Given the description of an element on the screen output the (x, y) to click on. 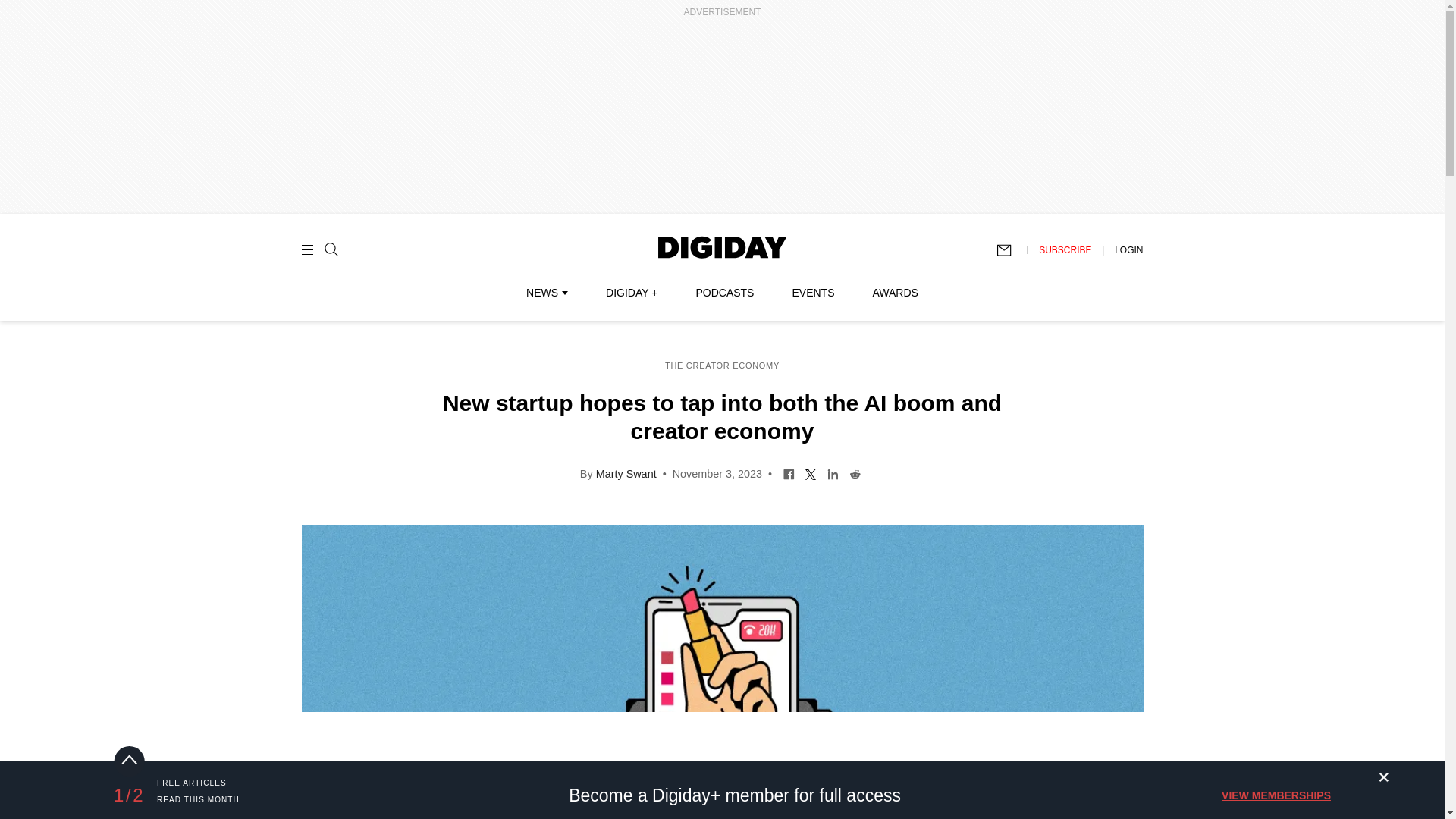
EVENTS (813, 292)
PODCASTS (725, 292)
LOGIN (1128, 249)
Share on LinkedIn (833, 472)
Share on Facebook (788, 472)
AWARDS (894, 292)
Share on Reddit (854, 472)
SUBSCRIBE (1064, 249)
Subscribe (1010, 250)
Share on Twitter (810, 472)
NEWS (546, 292)
